Given the description of an element on the screen output the (x, y) to click on. 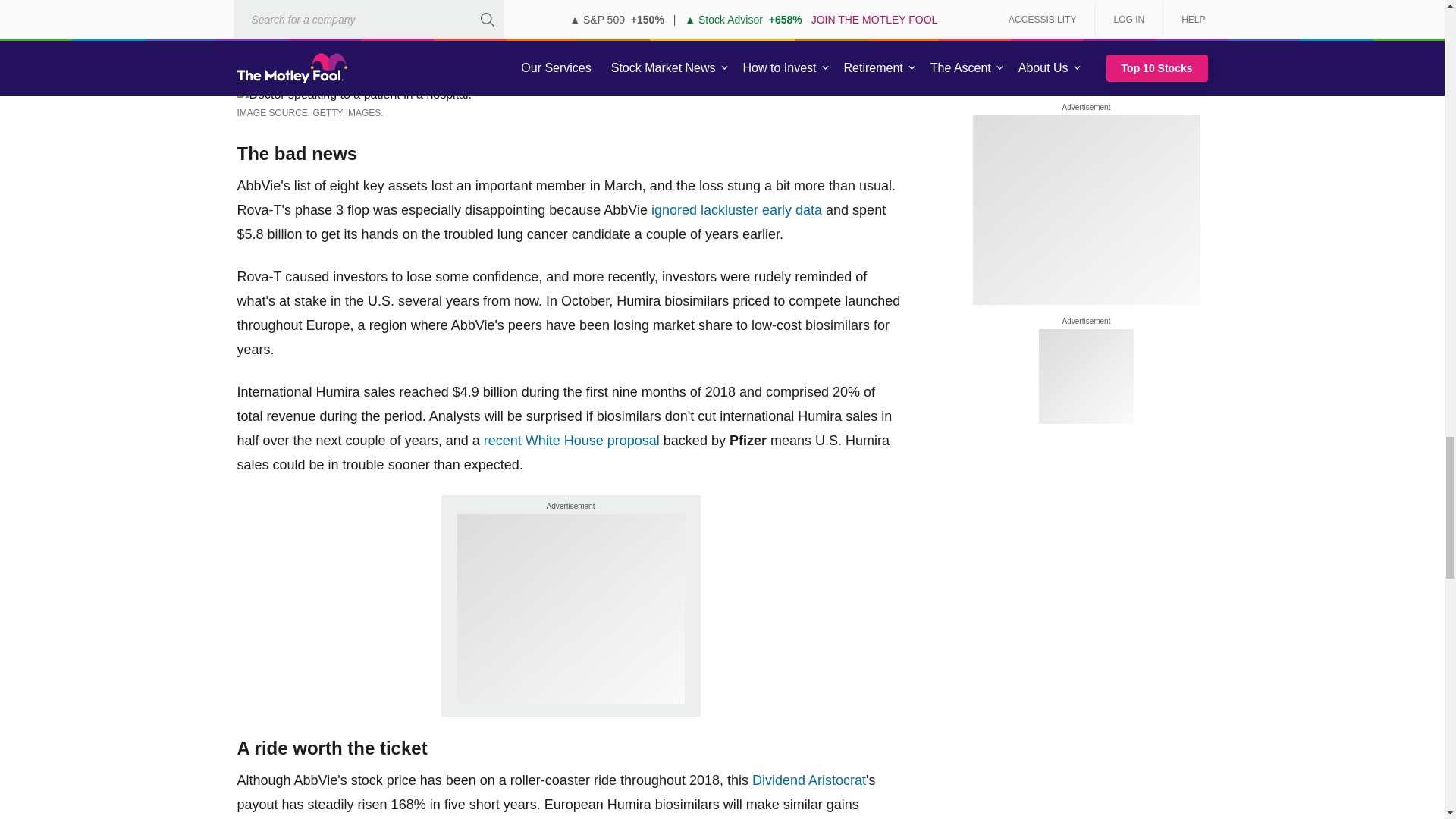
What Is a Dividend Aristocrat? (809, 780)
Here's Why Big Pharma Loves This Plan to Lower Drug Prices (571, 440)
